Given the description of an element on the screen output the (x, y) to click on. 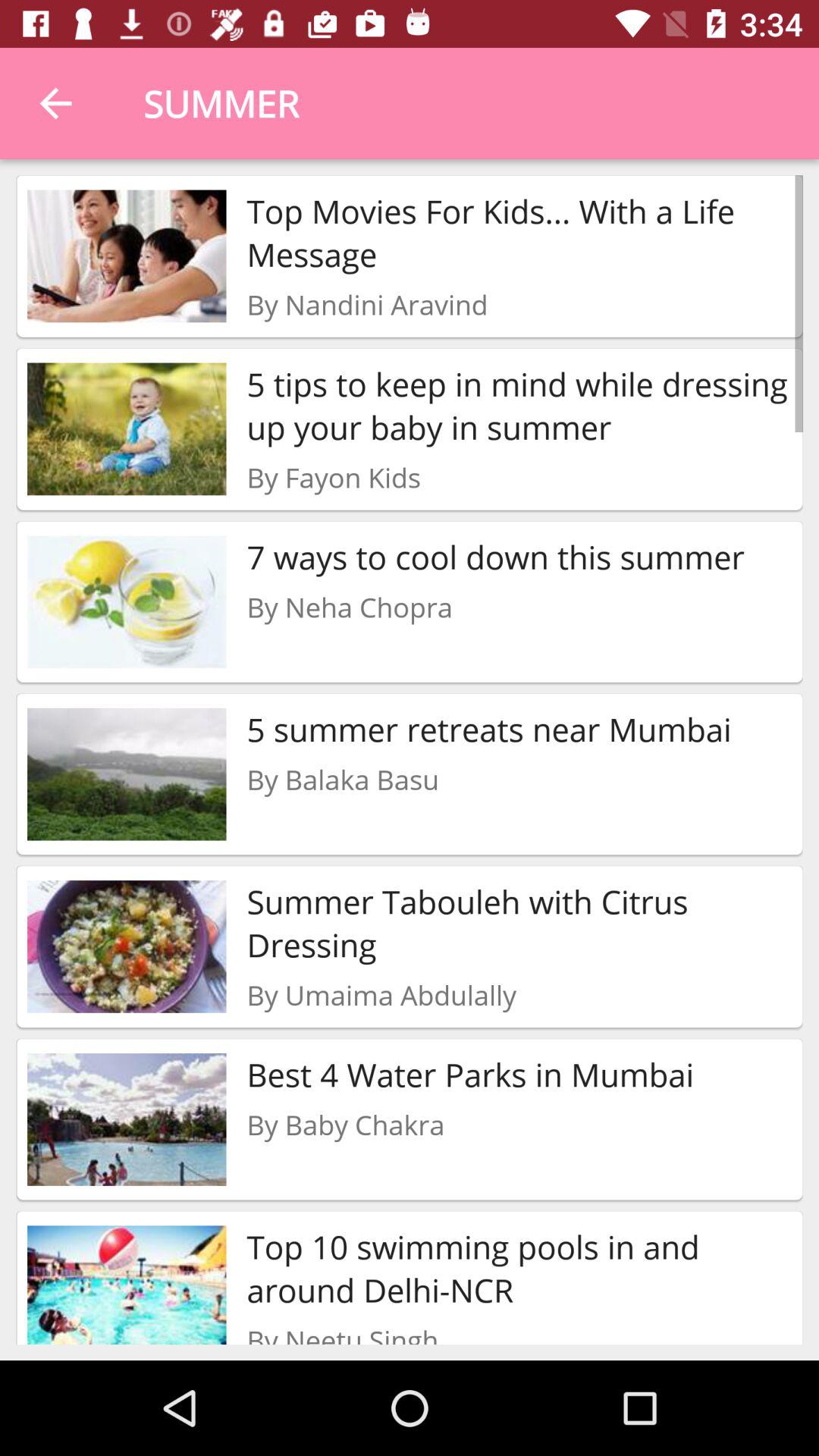
launch the by balaka basu item (342, 778)
